Given the description of an element on the screen output the (x, y) to click on. 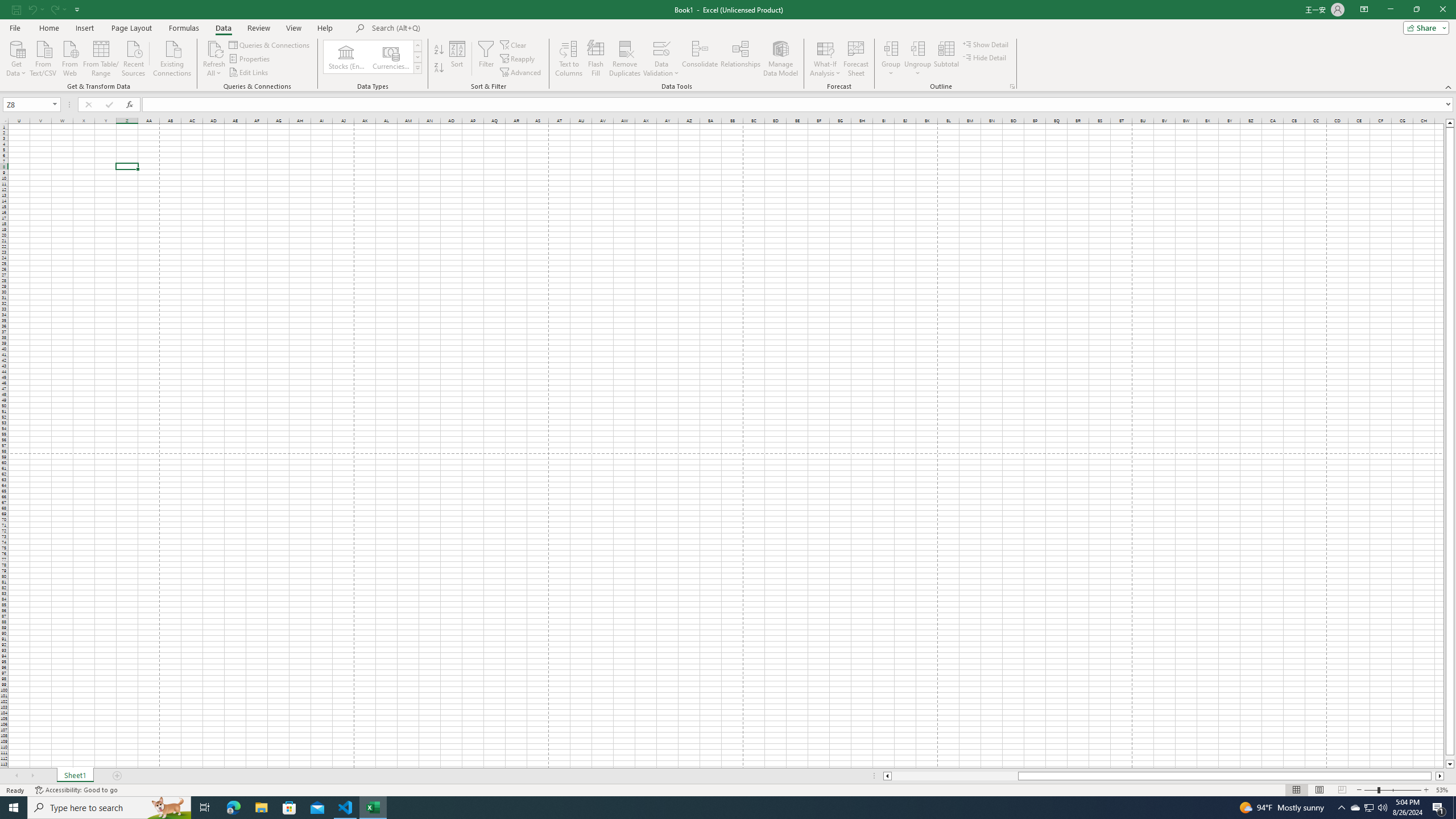
Sort A to Z (438, 49)
Edit Links (249, 72)
Consolidate... (700, 58)
